Given the description of an element on the screen output the (x, y) to click on. 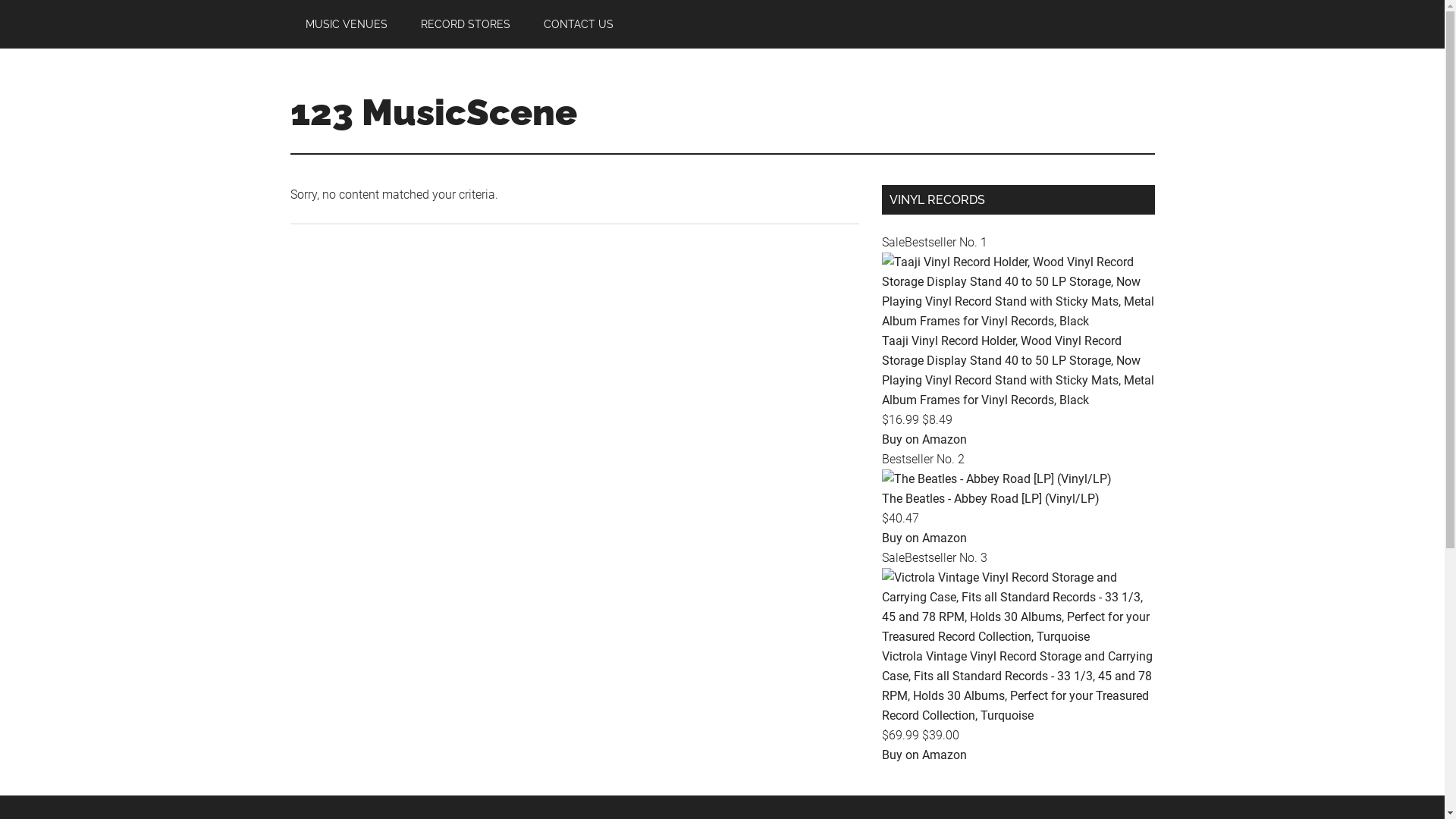
Buy on Amazon Element type: text (923, 537)
Buy on Amazon Element type: text (923, 439)
The Beatles - Abbey Road [LP] (Vinyl/LP) Element type: hover (995, 478)
123 MusicScene Element type: text (432, 112)
RECORD STORES Element type: text (464, 24)
Buy on Amazon Element type: text (923, 754)
The Beatles - Abbey Road [LP] (Vinyl/LP) Element type: text (989, 498)
CONTACT US Element type: text (577, 24)
MUSIC VENUES Element type: text (345, 24)
